Given the description of an element on the screen output the (x, y) to click on. 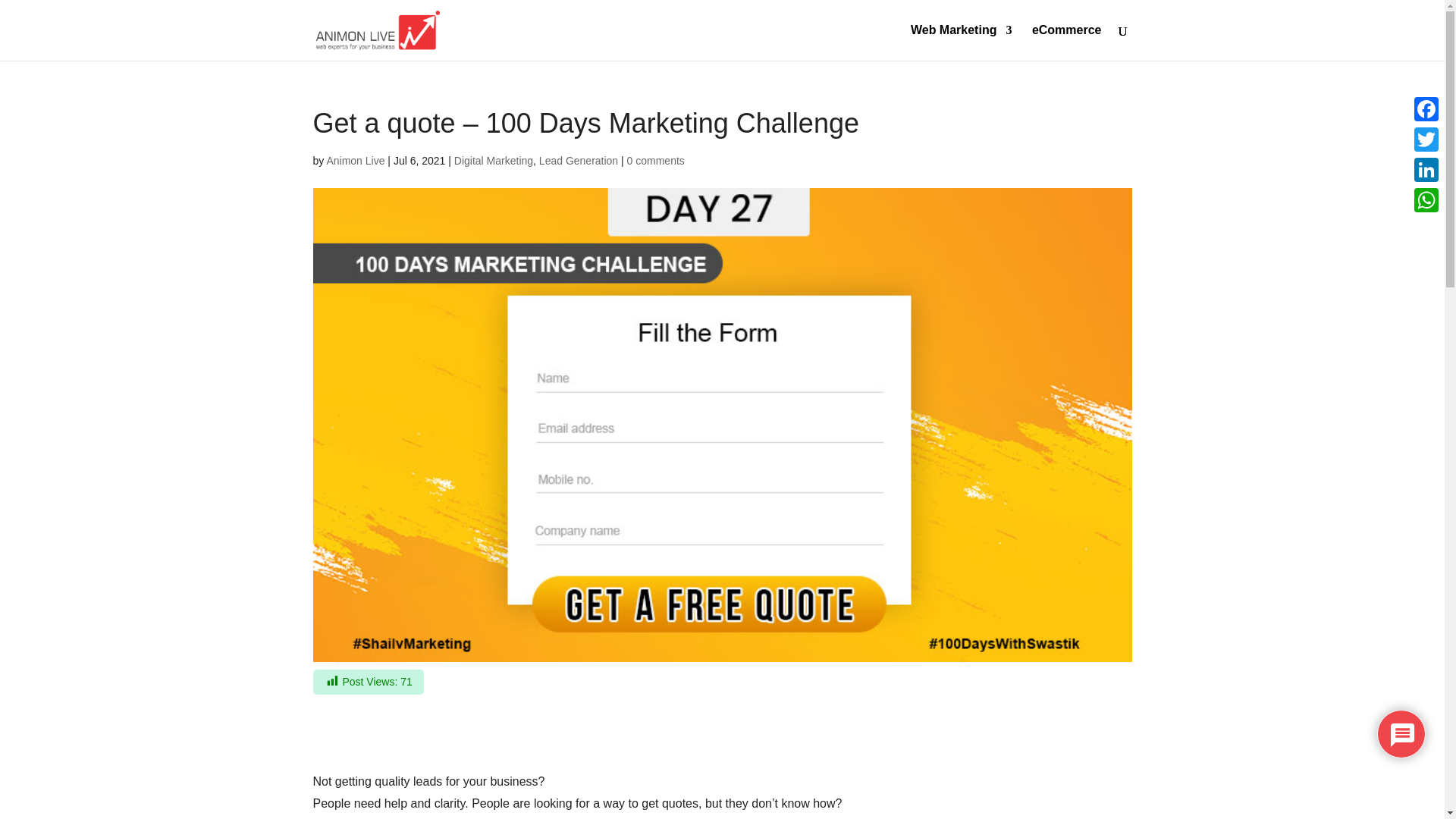
0 comments (655, 160)
Animon Live (355, 160)
Digital Marketing (493, 160)
eCommerce (1067, 42)
Web Marketing (961, 42)
Lead Generation (577, 160)
Posts by Animon Live (355, 160)
